Given the description of an element on the screen output the (x, y) to click on. 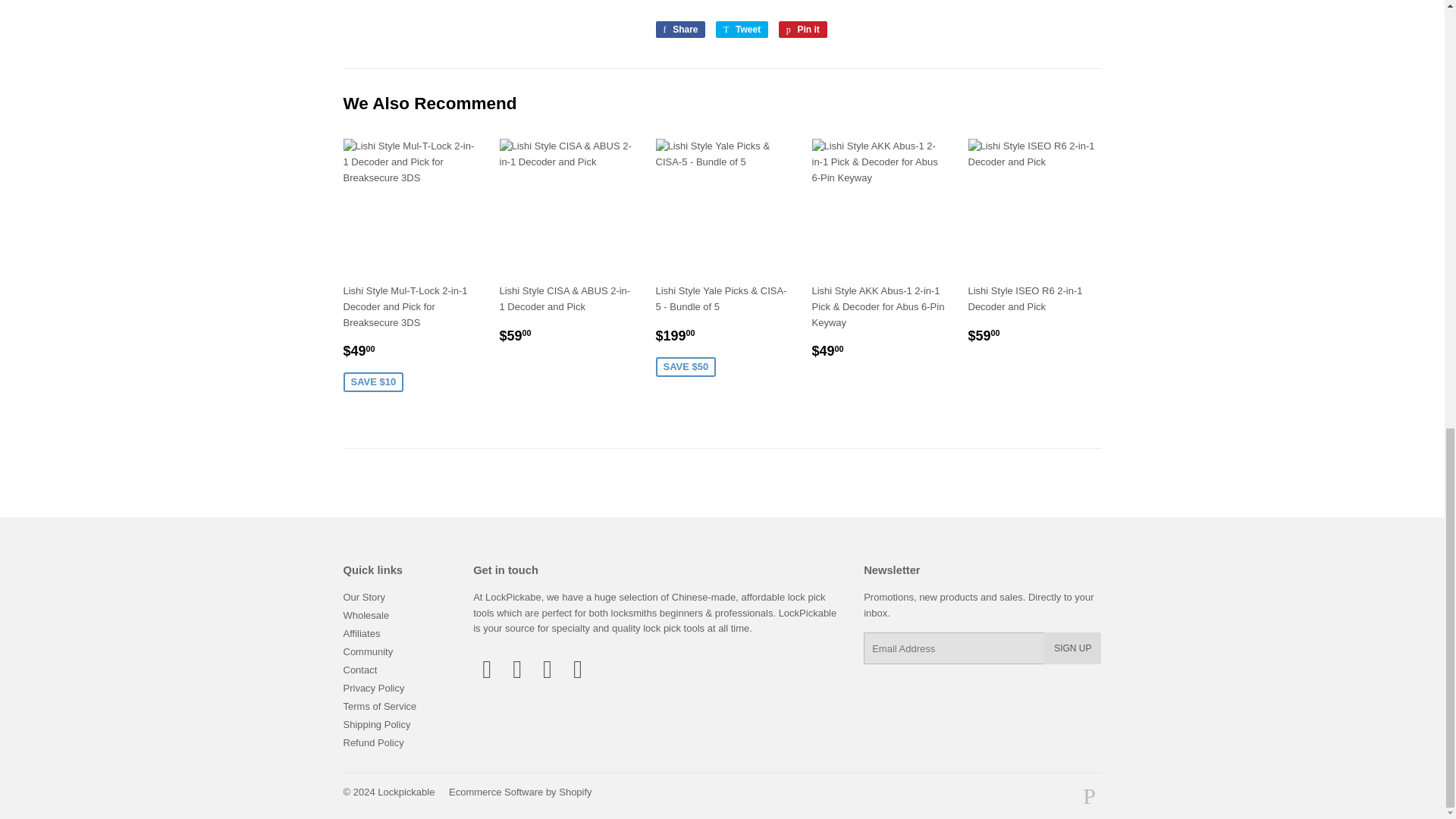
Tweet on Twitter (742, 29)
Share on Facebook (679, 29)
Pin on Pinterest (802, 29)
